Given the description of an element on the screen output the (x, y) to click on. 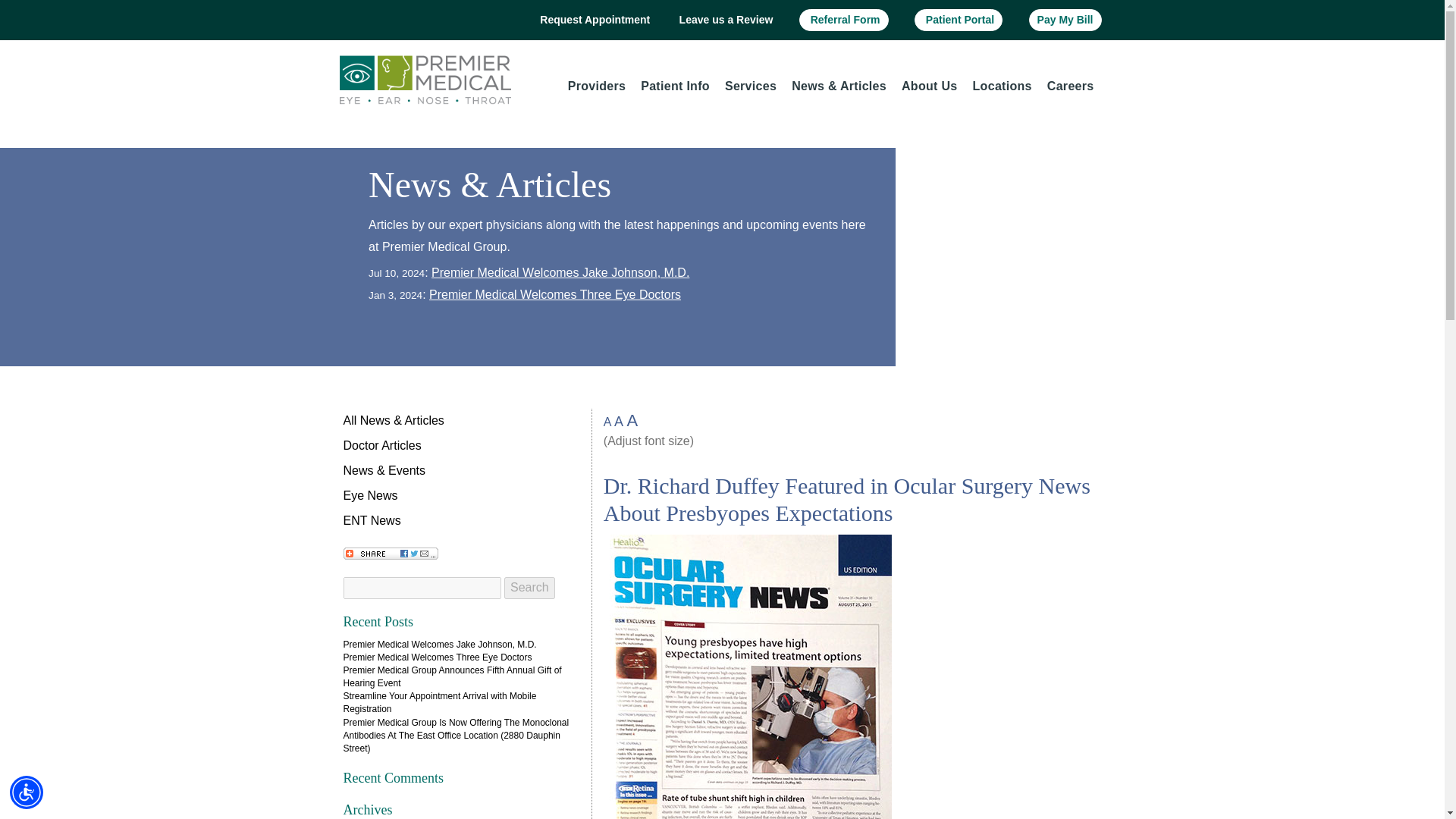
 Referral Form (843, 20)
Services (750, 85)
 Request Appointment (593, 19)
Search (528, 587)
 Patient Portal (958, 20)
Accessibility Menu (26, 792)
Patient Info (675, 85)
 Leave us a Review (725, 19)
About Us (929, 85)
Premier Medical Group: Eye, Ear, Nose and Throat Specialists (425, 78)
Pay My Bill (1065, 20)
Providers (596, 85)
